Given the description of an element on the screen output the (x, y) to click on. 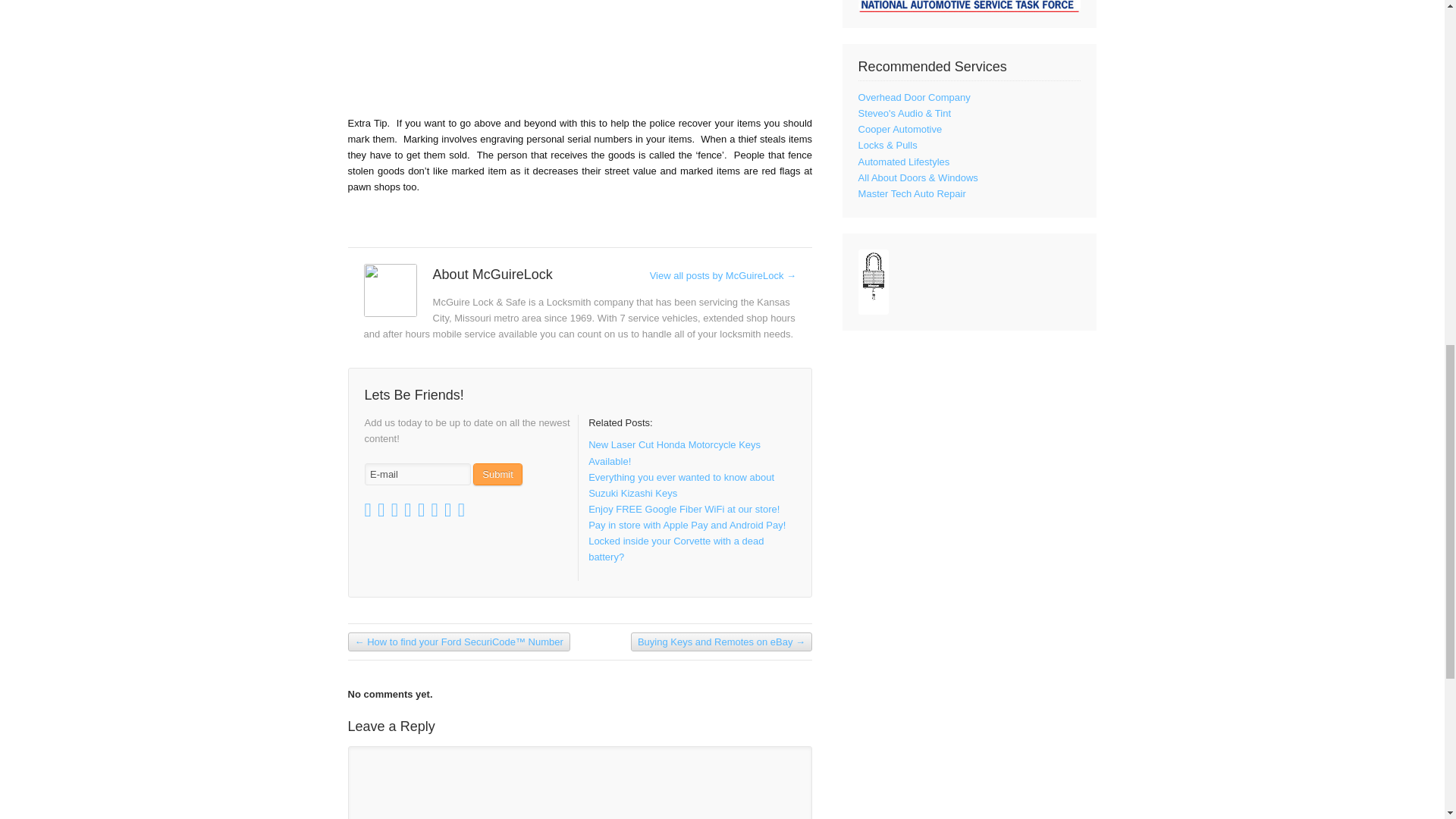
New Laser Cut Honda Motorcycle Keys Available! (674, 452)
Submit (497, 474)
Everything you ever wanted to know about Suzuki Kizashi Keys (681, 484)
New Laser Cut Honda Motorcycle Keys Available! (674, 452)
E-mail (417, 474)
Submit (497, 474)
